Given the description of an element on the screen output the (x, y) to click on. 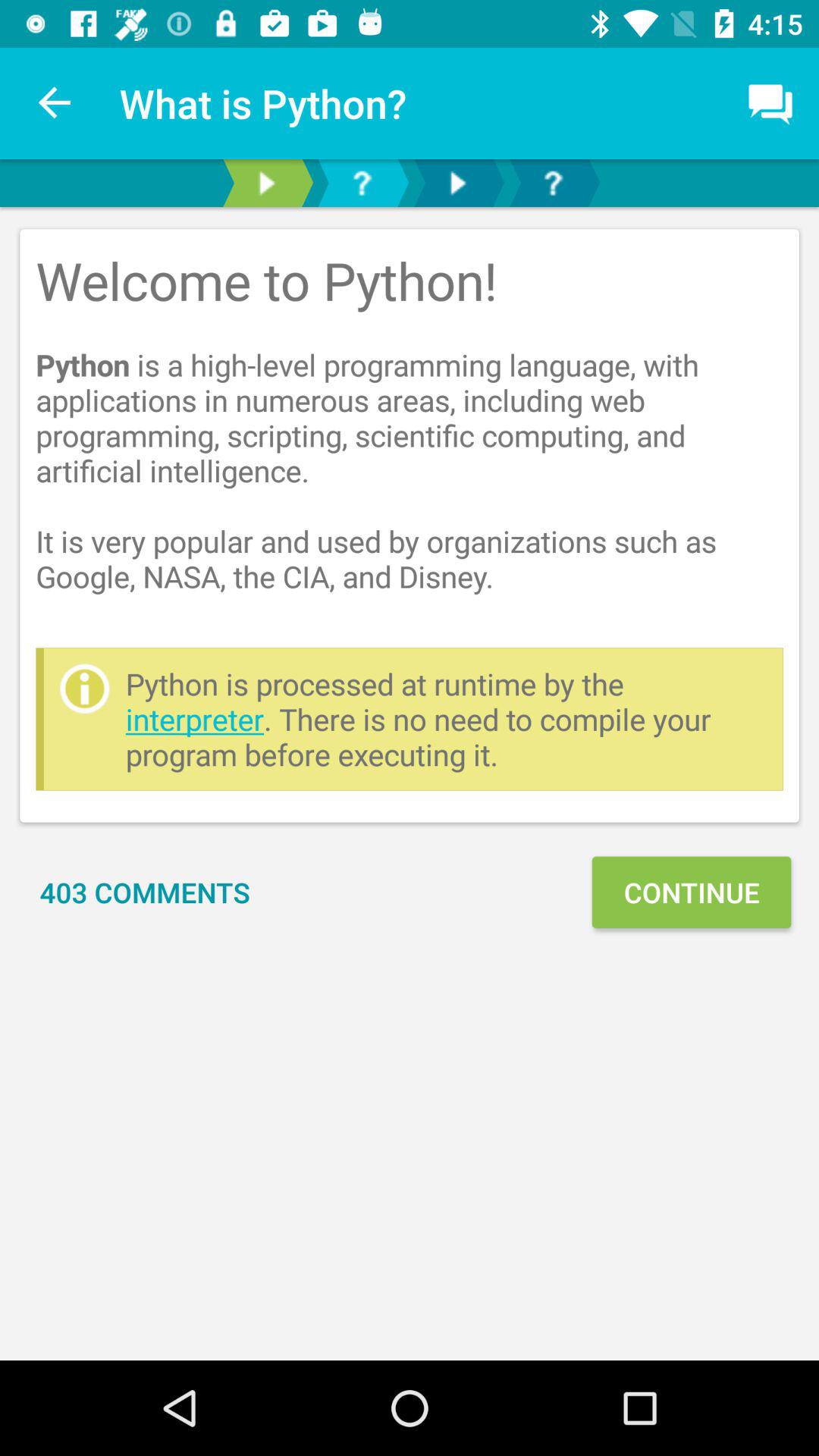
next button or forward button (457, 183)
